Given the description of an element on the screen output the (x, y) to click on. 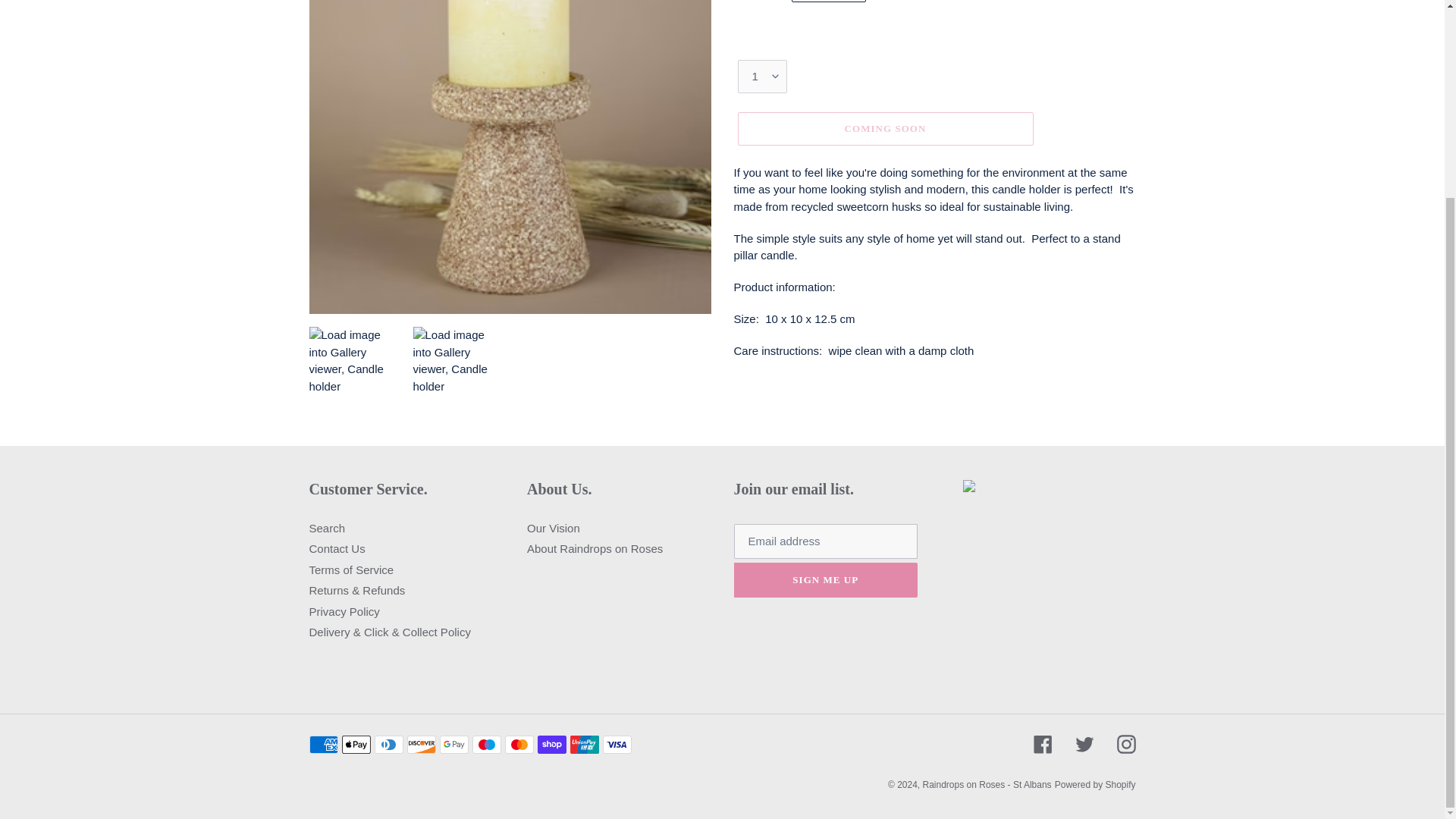
American Express (322, 743)
Mastercard (519, 743)
Google Pay (453, 743)
Maestro (485, 743)
Diners Club (388, 743)
Discover (420, 743)
Apple Pay (354, 743)
